Given the description of an element on the screen output the (x, y) to click on. 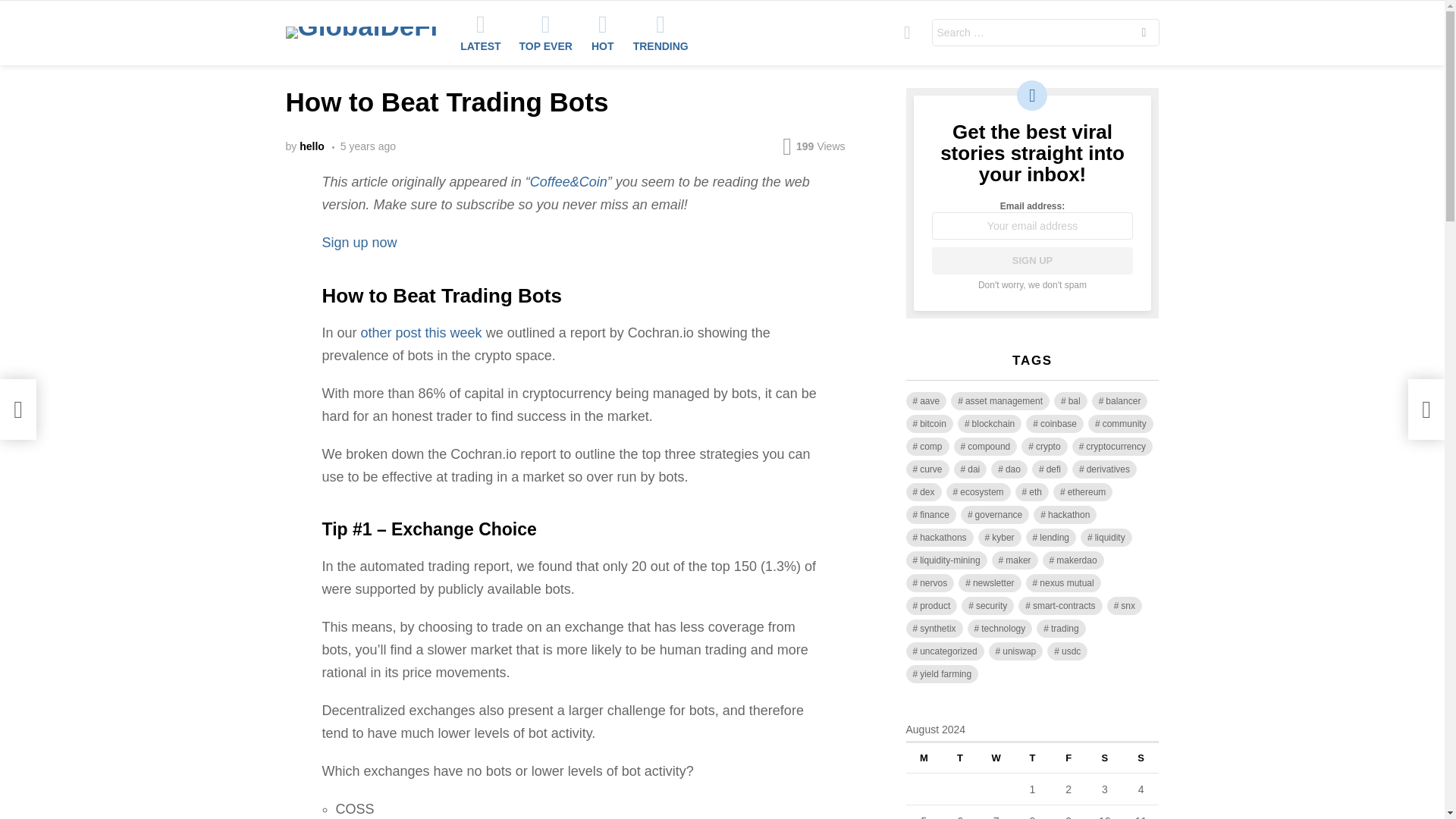
SEARCH (1143, 33)
Search for: (1044, 31)
TRENDING (660, 32)
asset management (999, 401)
Sign up now (358, 242)
Sign up (1031, 260)
Sign up (1031, 260)
bal (1070, 401)
Posts by hello (311, 146)
TOP EVER (545, 32)
